Given the description of an element on the screen output the (x, y) to click on. 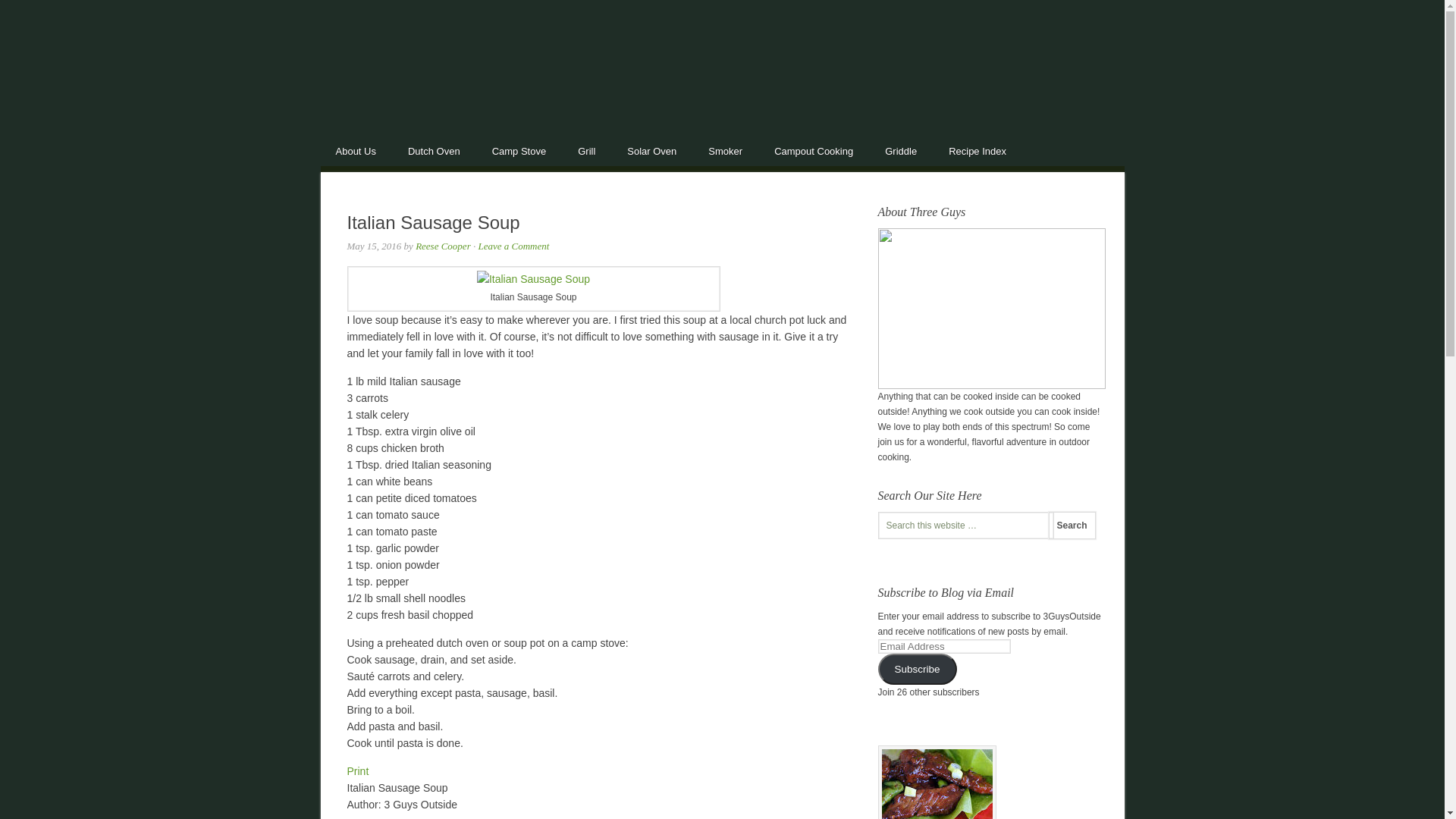
Camp Stove Element type: text (519, 150)
Griddle Element type: text (901, 150)
Gary, Lyle and Reese - 3 Guys! Element type: hover (991, 385)
Leave a Comment Element type: text (513, 245)
Subscribe Element type: text (917, 668)
Campout Cooking Element type: text (814, 150)
Smoker Element type: text (726, 150)
Solar Oven Element type: text (652, 150)
Recipe Index Element type: text (977, 150)
THREE GUYS OUTSIDE Element type: text (721, 88)
About Us Element type: text (356, 150)
Grill Element type: text (586, 150)
Reese Cooper Element type: text (442, 245)
Search Element type: text (1071, 525)
Print Element type: text (358, 771)
Dutch Oven Element type: text (434, 150)
